Given the description of an element on the screen output the (x, y) to click on. 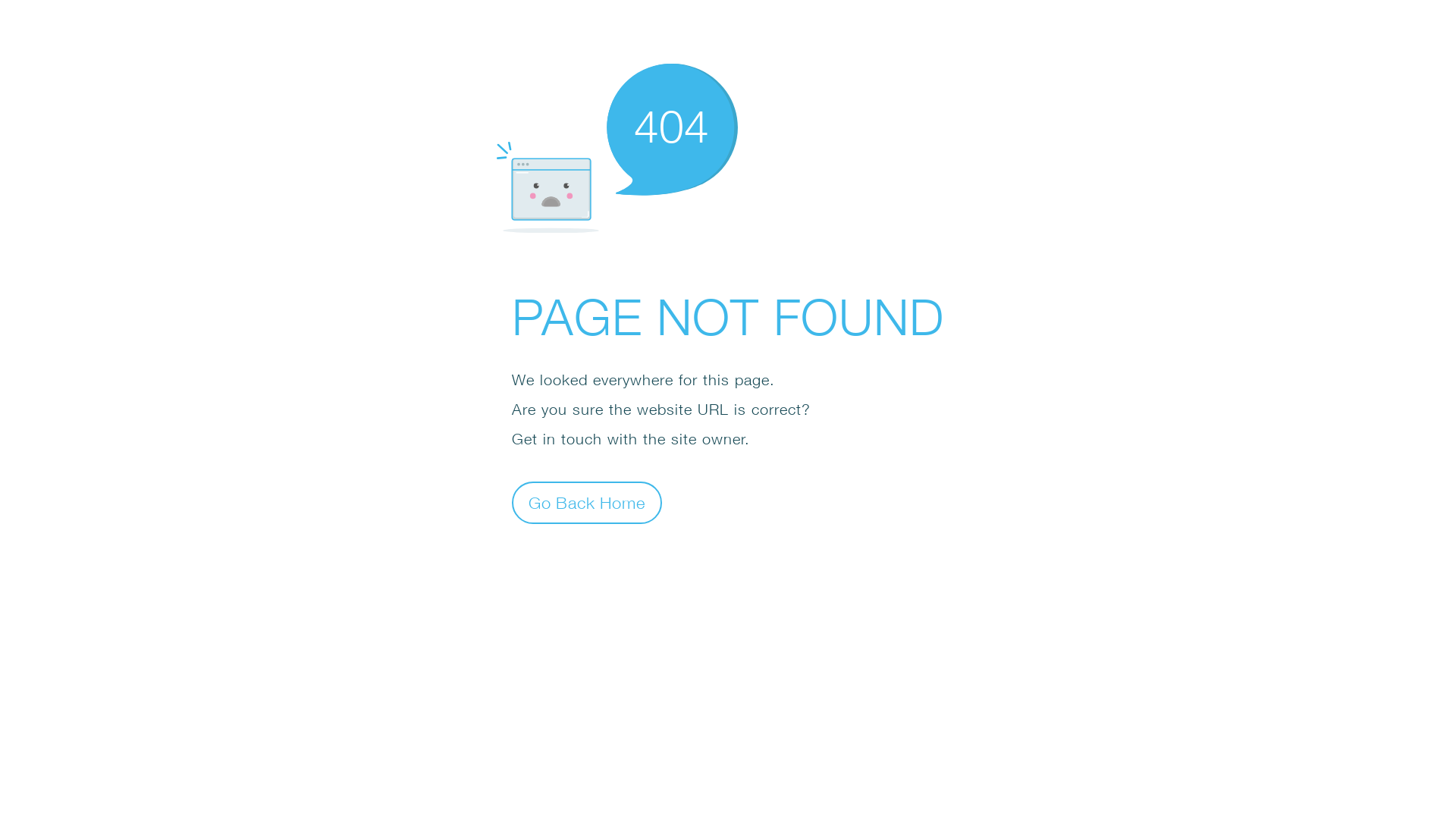
Go Back Home Element type: text (586, 502)
